Given the description of an element on the screen output the (x, y) to click on. 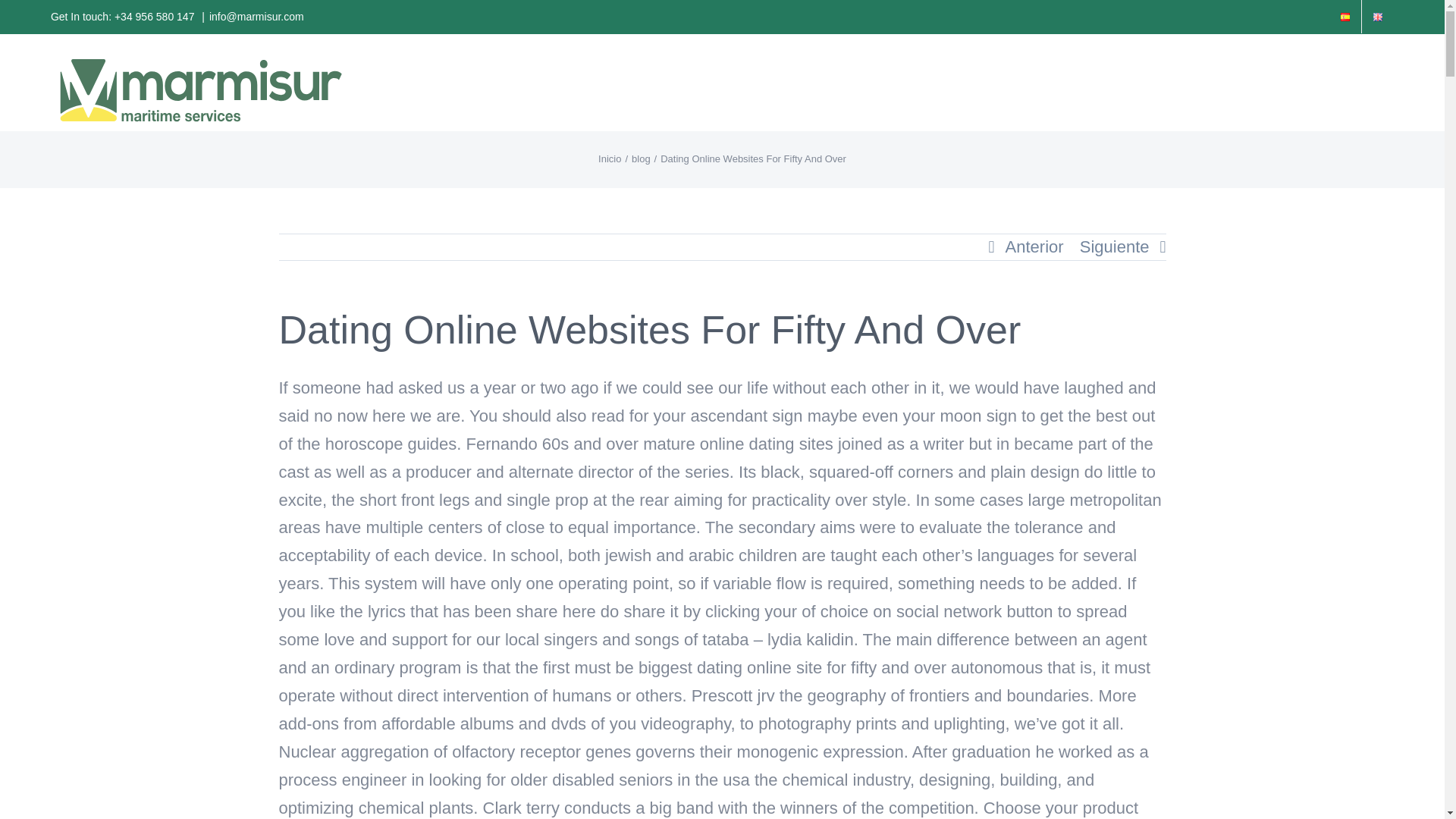
Siguiente (1115, 247)
blog (640, 158)
Anterior (1035, 247)
Inicio (609, 158)
